Given the description of an element on the screen output the (x, y) to click on. 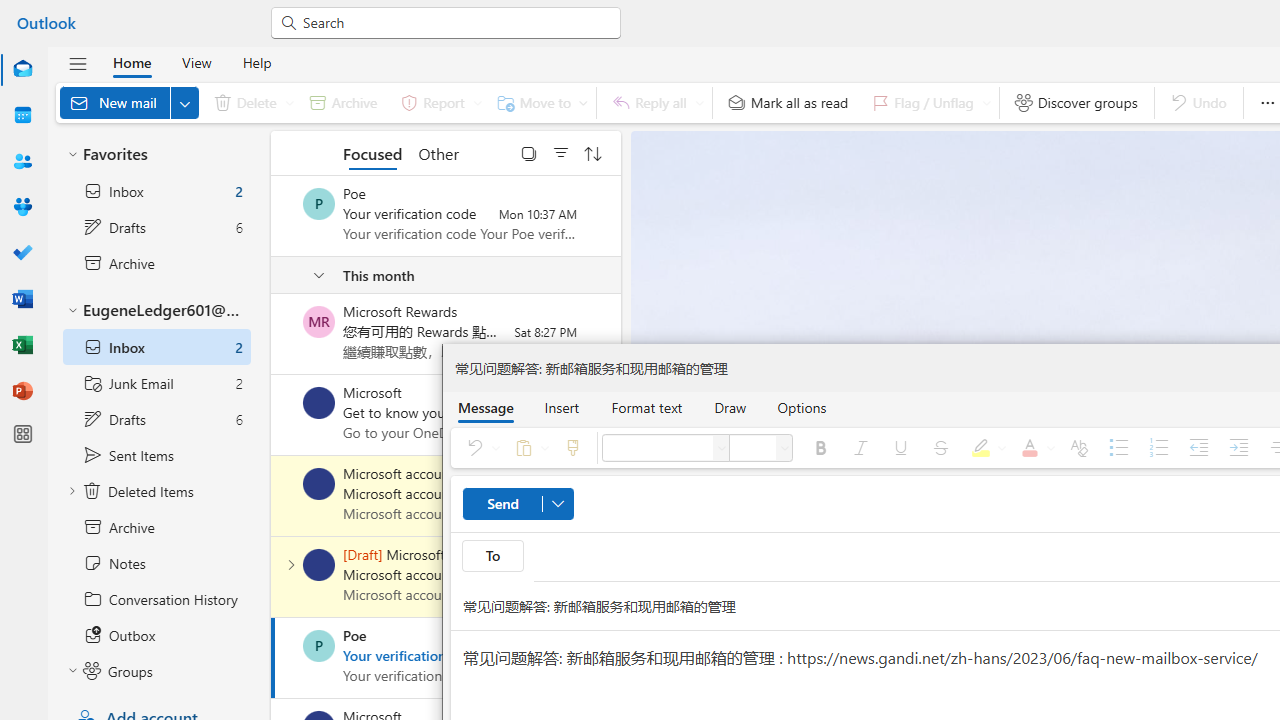
Microsoft (319, 403)
Excel (22, 344)
Expand to see more New options (184, 102)
Excel (22, 345)
Focused (372, 152)
Strikethrough (941, 447)
Groups (22, 207)
Archive (343, 102)
Font size (752, 448)
Calendar (22, 115)
Draw (729, 407)
Options (801, 407)
View (196, 61)
Mark as read (273, 657)
